Given the description of an element on the screen output the (x, y) to click on. 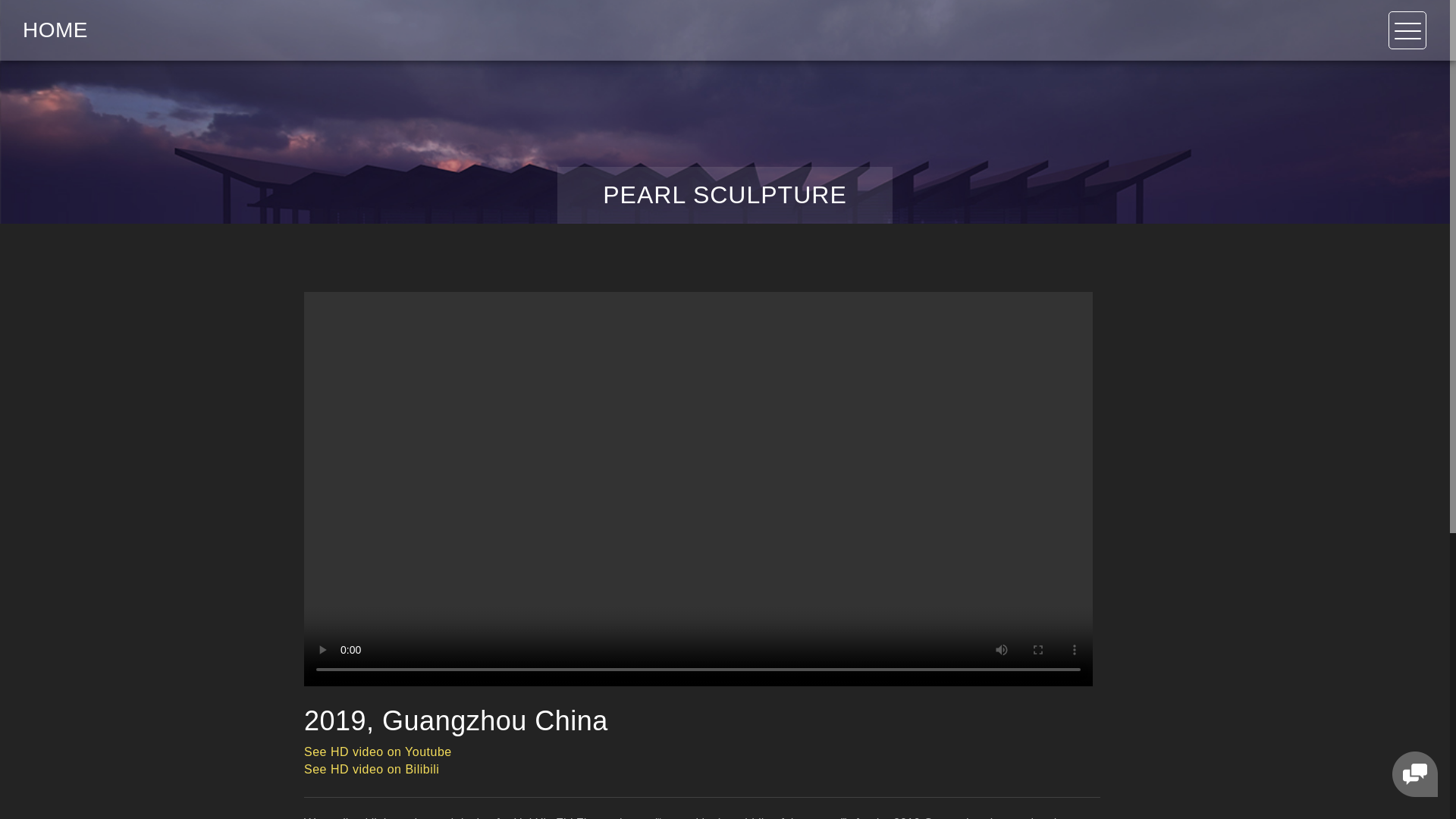
HOME (55, 29)
See HD video on Youtube (377, 751)
See HD video on Bilibili (371, 768)
